Given the description of an element on the screen output the (x, y) to click on. 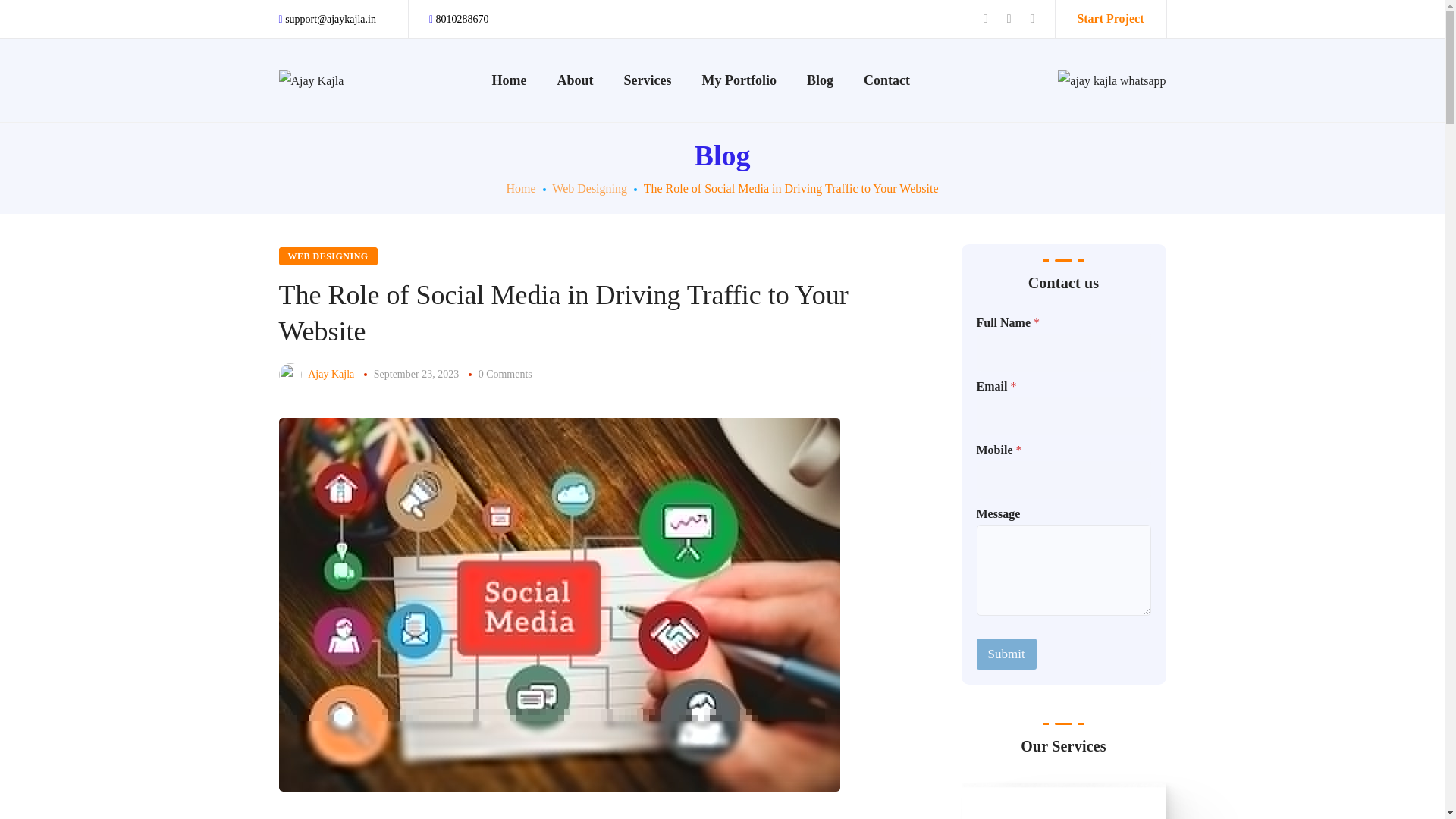
8010288670 (459, 19)
WEB DESIGNING (328, 256)
Start Project (1109, 18)
Ajay Kajla (330, 374)
Contact (886, 80)
My Portfolio (739, 80)
Home (520, 187)
Web Designing (589, 187)
Services (647, 80)
0 Comments (505, 374)
